Given the description of an element on the screen output the (x, y) to click on. 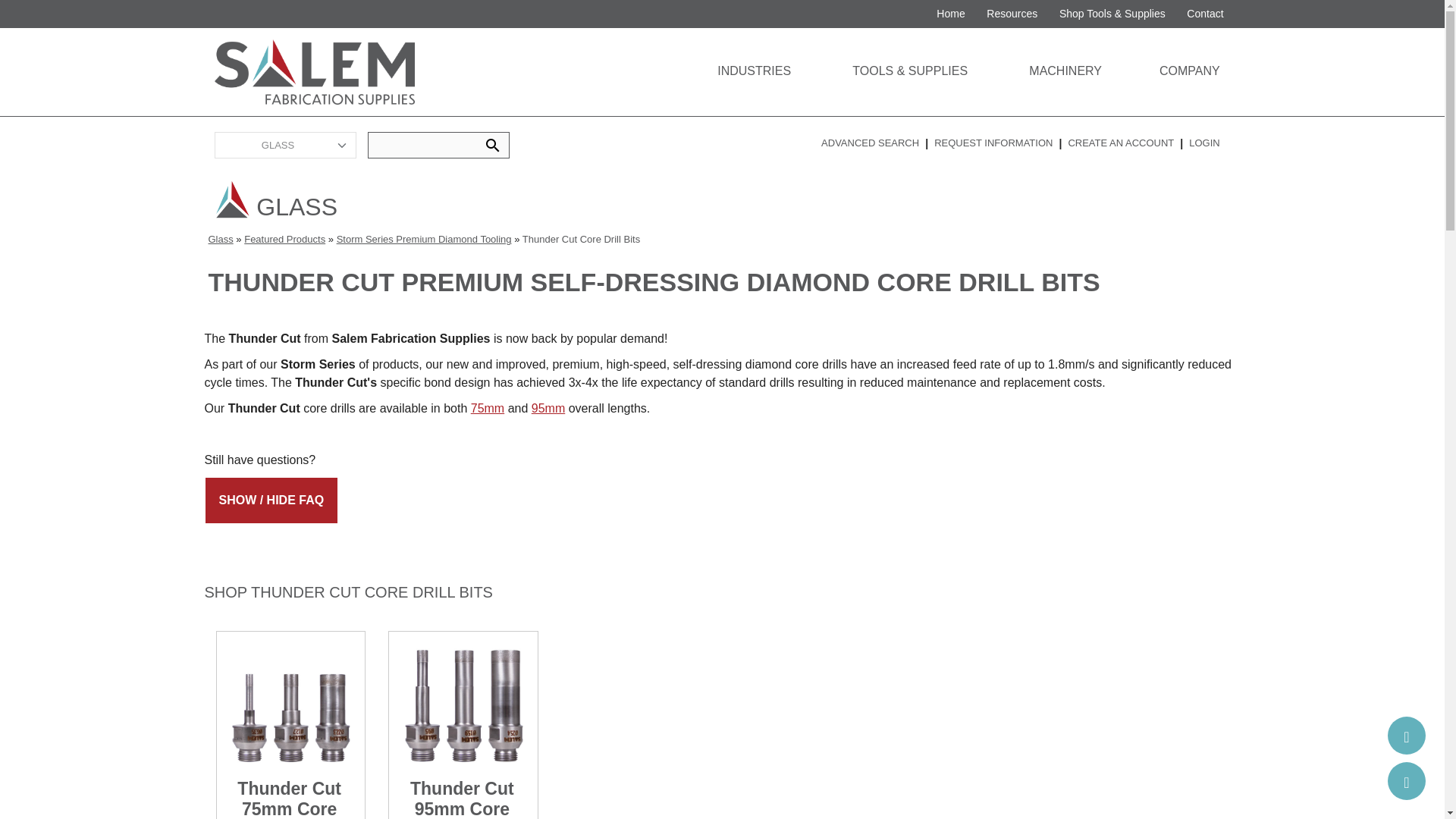
Contact (1205, 13)
COMPANY (1166, 69)
Search (492, 145)
INDUSTRIES (734, 69)
MACHINERY (1045, 69)
Home (950, 13)
Home (313, 71)
Resources (1011, 13)
